Given the description of an element on the screen output the (x, y) to click on. 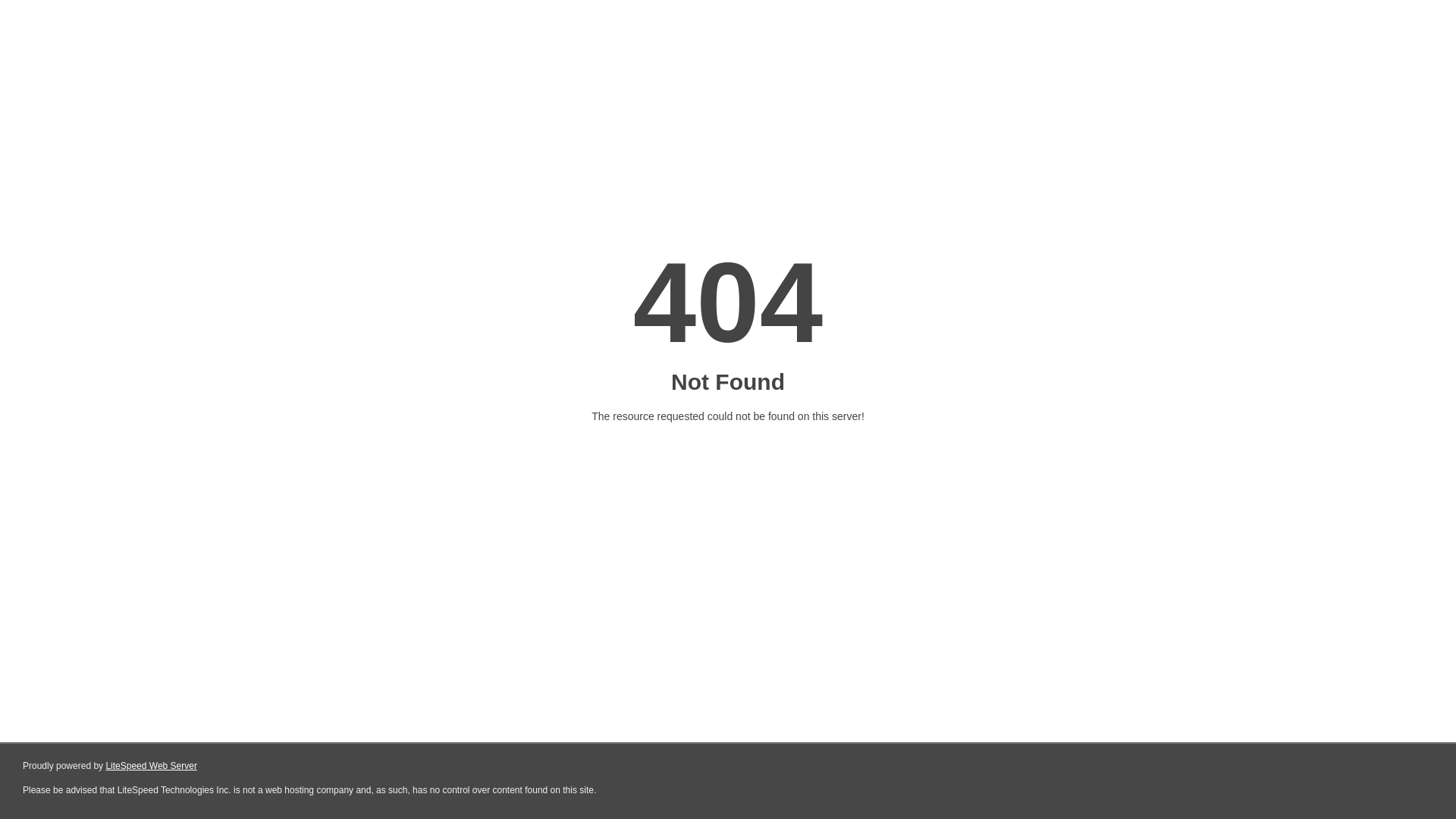
LiteSpeed Web Server Element type: text (151, 765)
